Given the description of an element on the screen output the (x, y) to click on. 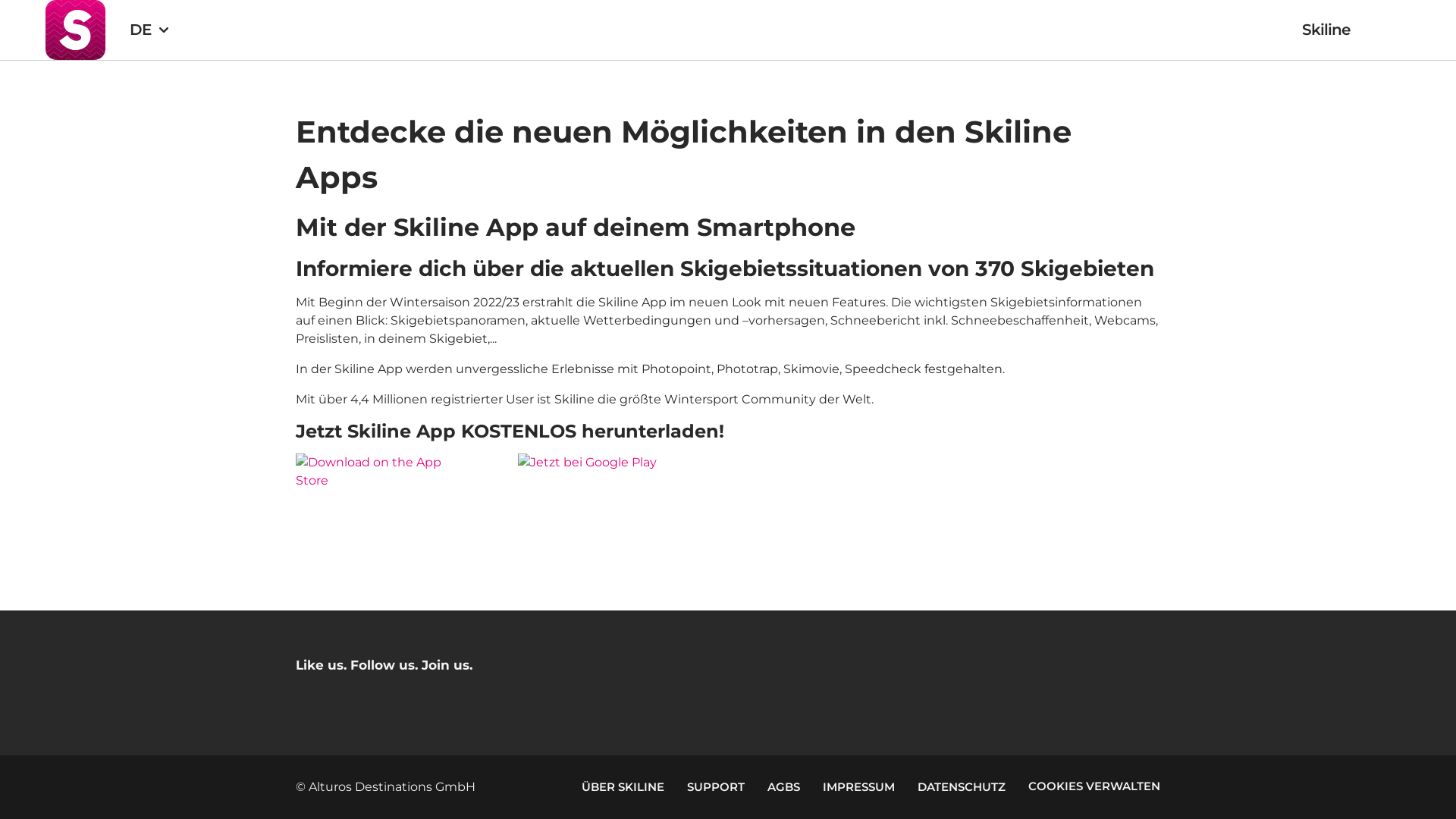
AGBS Element type: text (783, 786)
Skiline Element type: text (1325, 29)
Warenkorb Element type: hover (1389, 29)
DATENSCHUTZ Element type: text (961, 786)
IMPRESSUM Element type: text (858, 786)
SUPPORT Element type: text (715, 786)
